Given the description of an element on the screen output the (x, y) to click on. 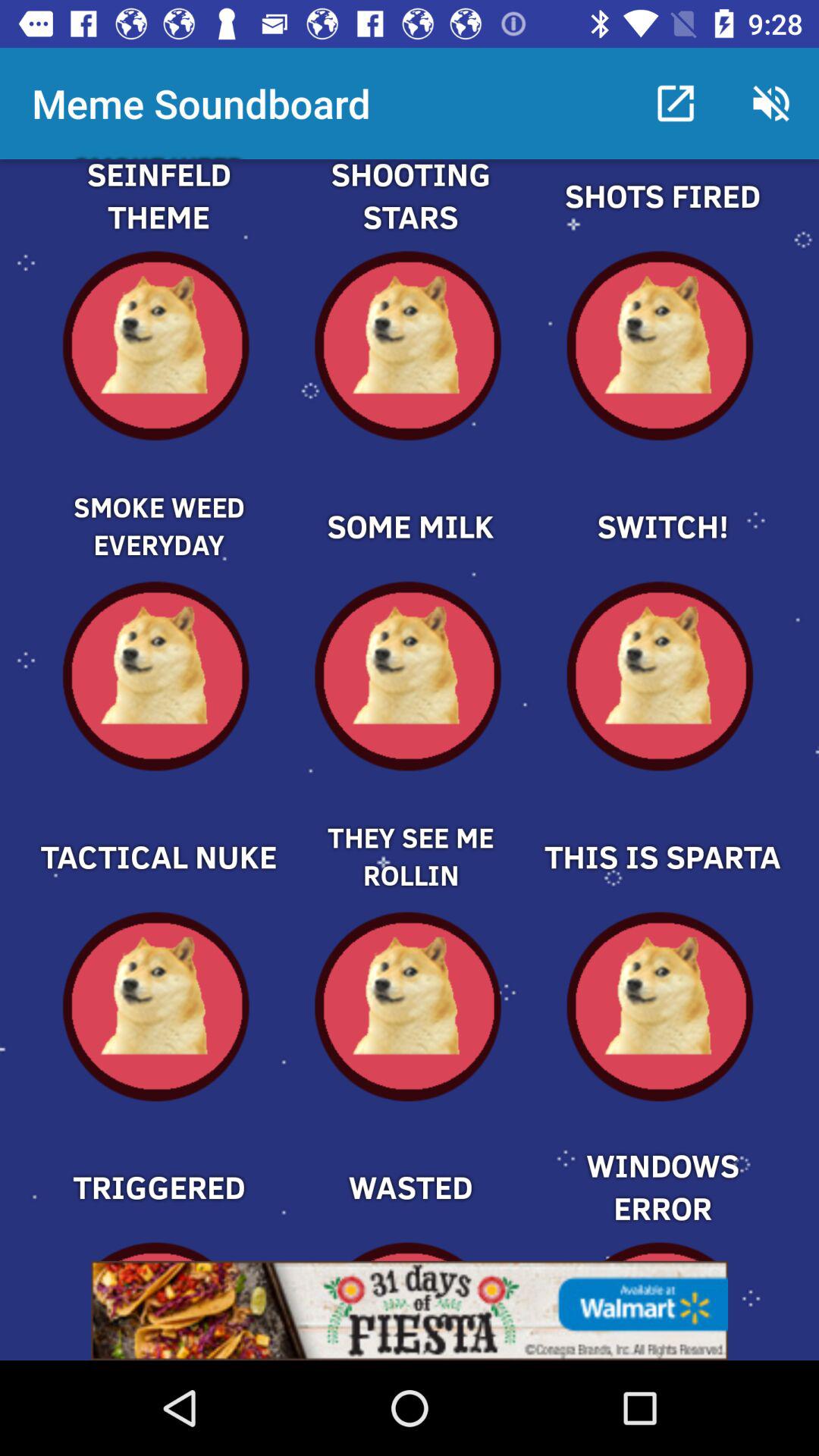
select option (409, 1160)
